Given the description of an element on the screen output the (x, y) to click on. 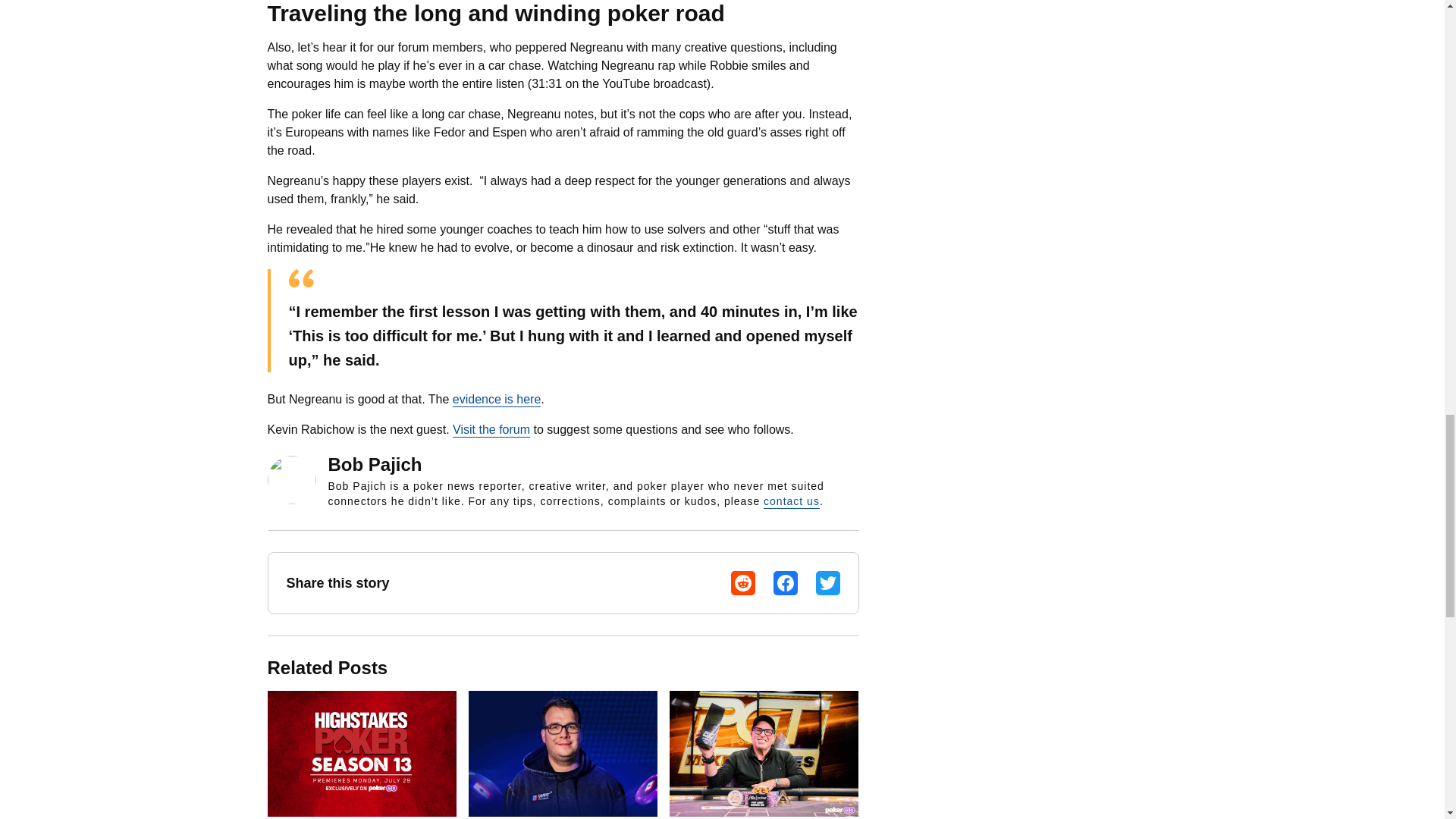
Share on Reddit (742, 582)
Share on Twitter (827, 582)
Share on Facebook (785, 582)
